Given the description of an element on the screen output the (x, y) to click on. 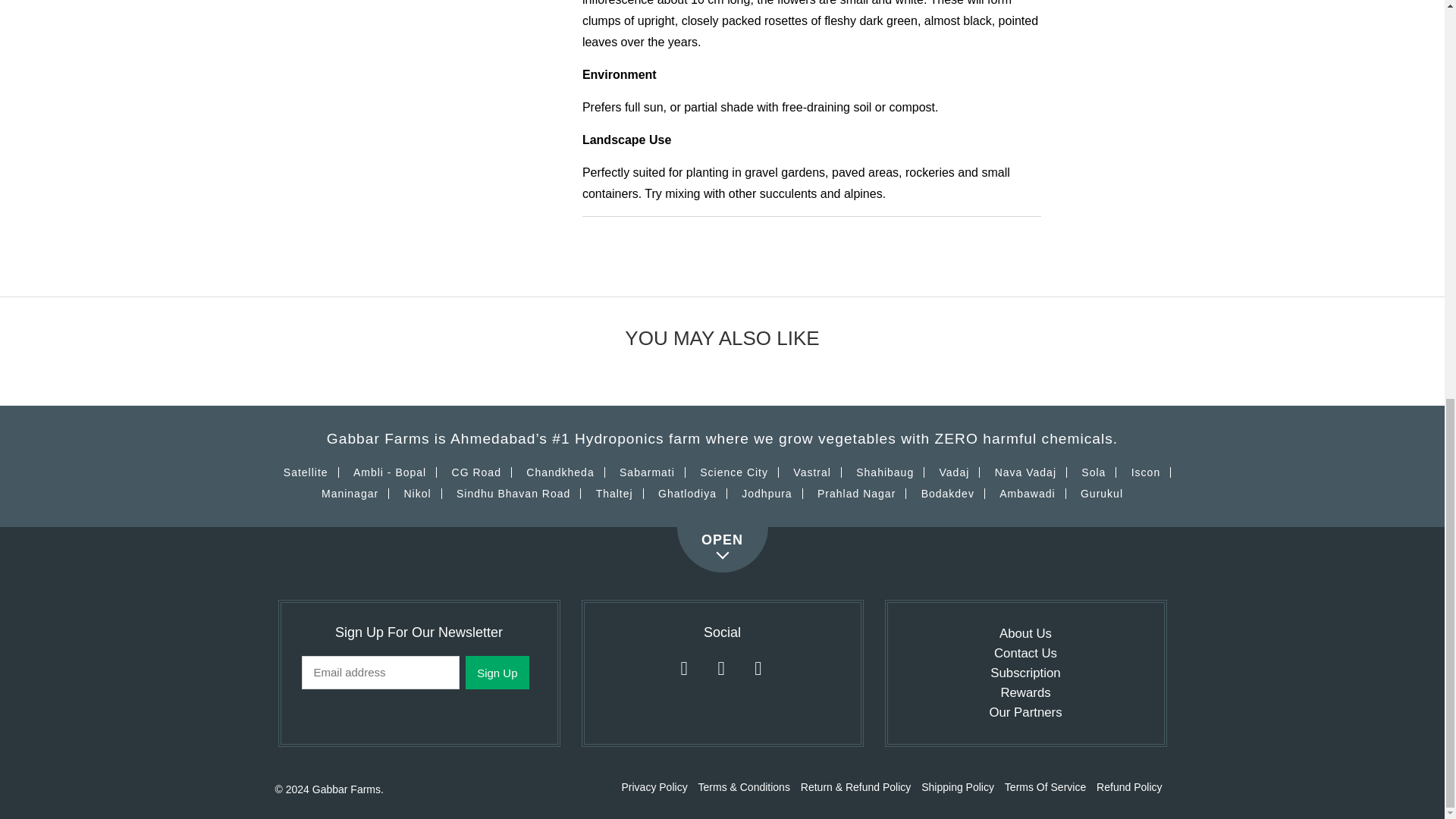
Gabbar Farms on Instagram (757, 668)
Gabbar Farms on Facebook (721, 668)
Sign Up (496, 672)
Gabbar Farms on Twitter (683, 668)
